Given the description of an element on the screen output the (x, y) to click on. 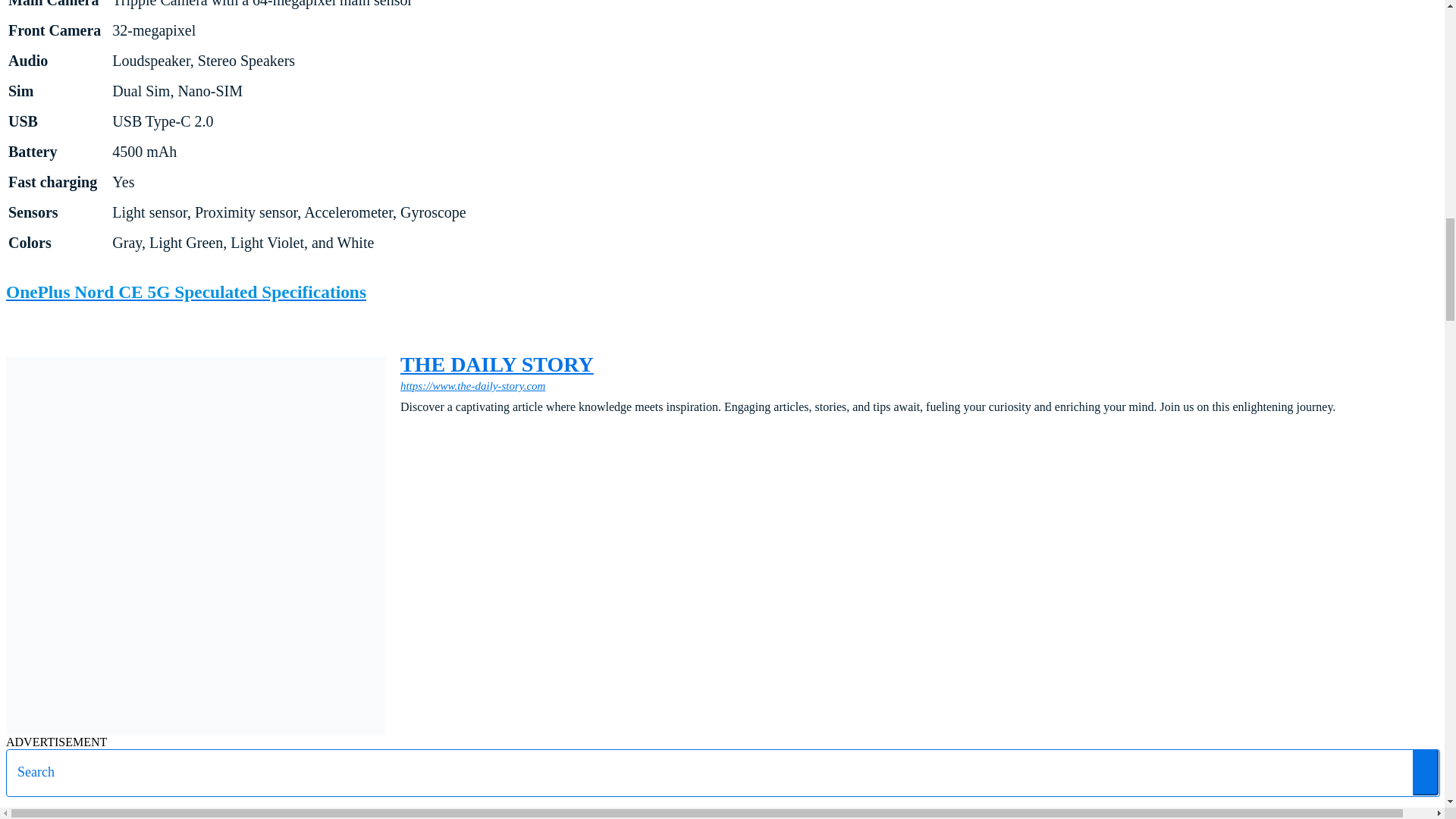
Pinterest (485, 431)
Facebook (407, 431)
Linkedin (459, 431)
Instagram (433, 431)
Twitter (510, 431)
OnePlus Nord CE 5G Speculated Specifications (185, 291)
Youtube (536, 431)
THE DAILY STORY (867, 364)
